Given the description of an element on the screen output the (x, y) to click on. 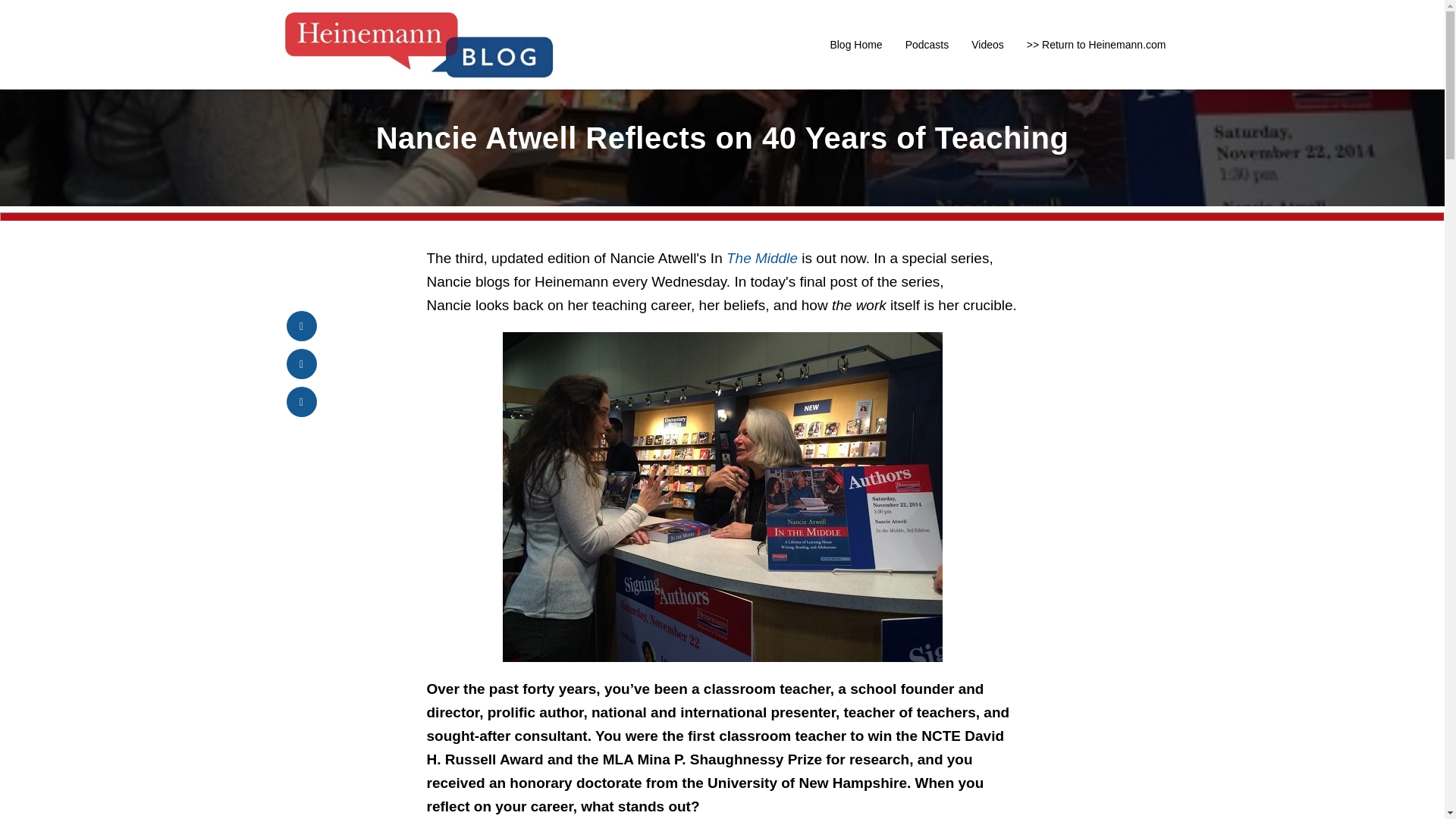
new-logo-horiz.jpg (419, 44)
The Middle (761, 258)
Nancie Atwell Reflects on 40 Years of Teaching (721, 138)
Videos (986, 44)
Podcasts (926, 44)
Blog Home (855, 44)
